Given the description of an element on the screen output the (x, y) to click on. 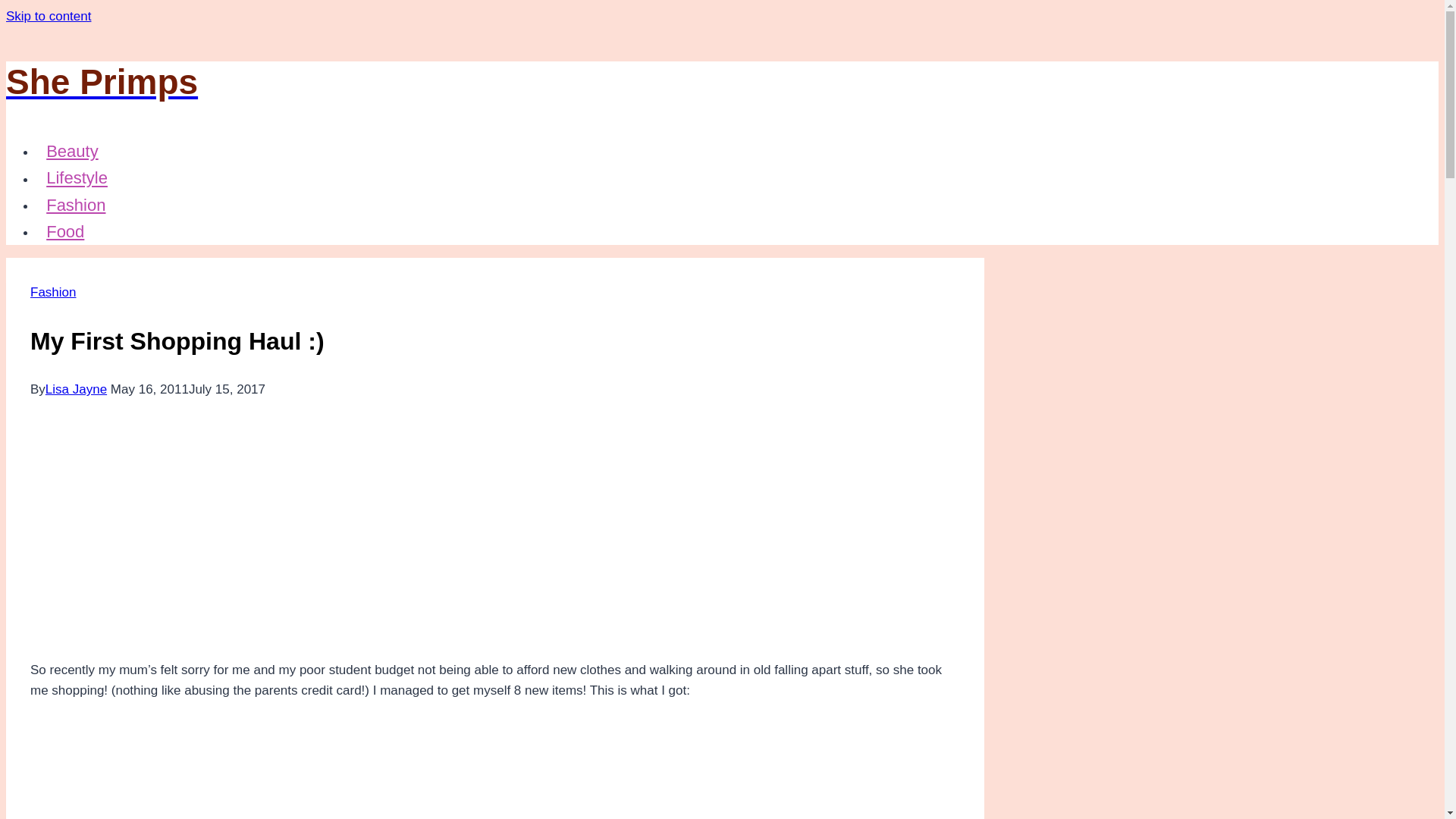
Fashion (52, 292)
Beauty (71, 150)
Fashion (76, 204)
She Primps (494, 82)
Food (65, 231)
Skip to content (47, 16)
Lifestyle (76, 177)
Lisa Jayne (75, 389)
Skip to content (47, 16)
